Given the description of an element on the screen output the (x, y) to click on. 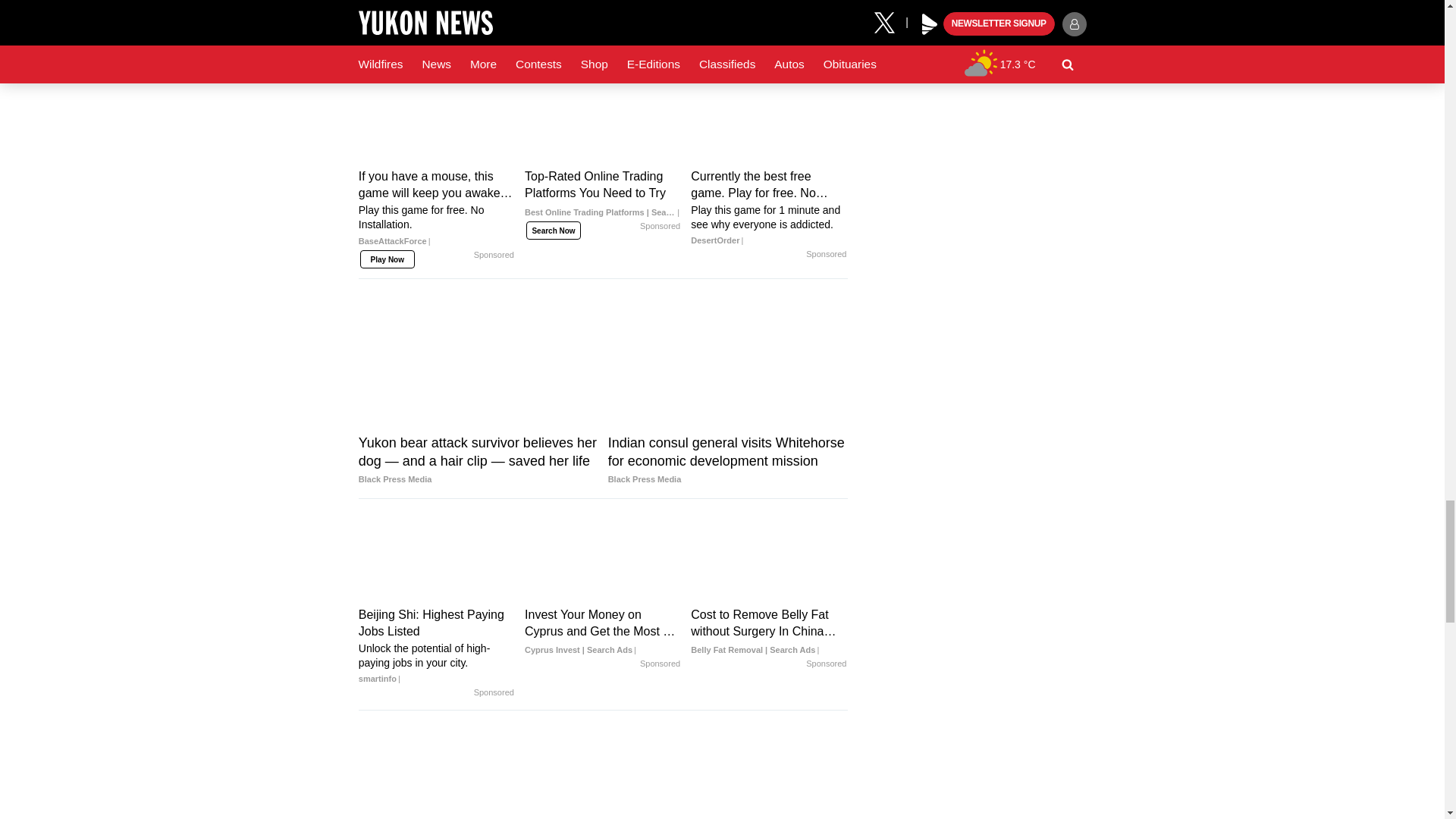
Carcross RCMP respond to fatal motorcycle crash (727, 15)
Top-Rated Online Trading Platforms You Need to Try (602, 199)
